Given the description of an element on the screen output the (x, y) to click on. 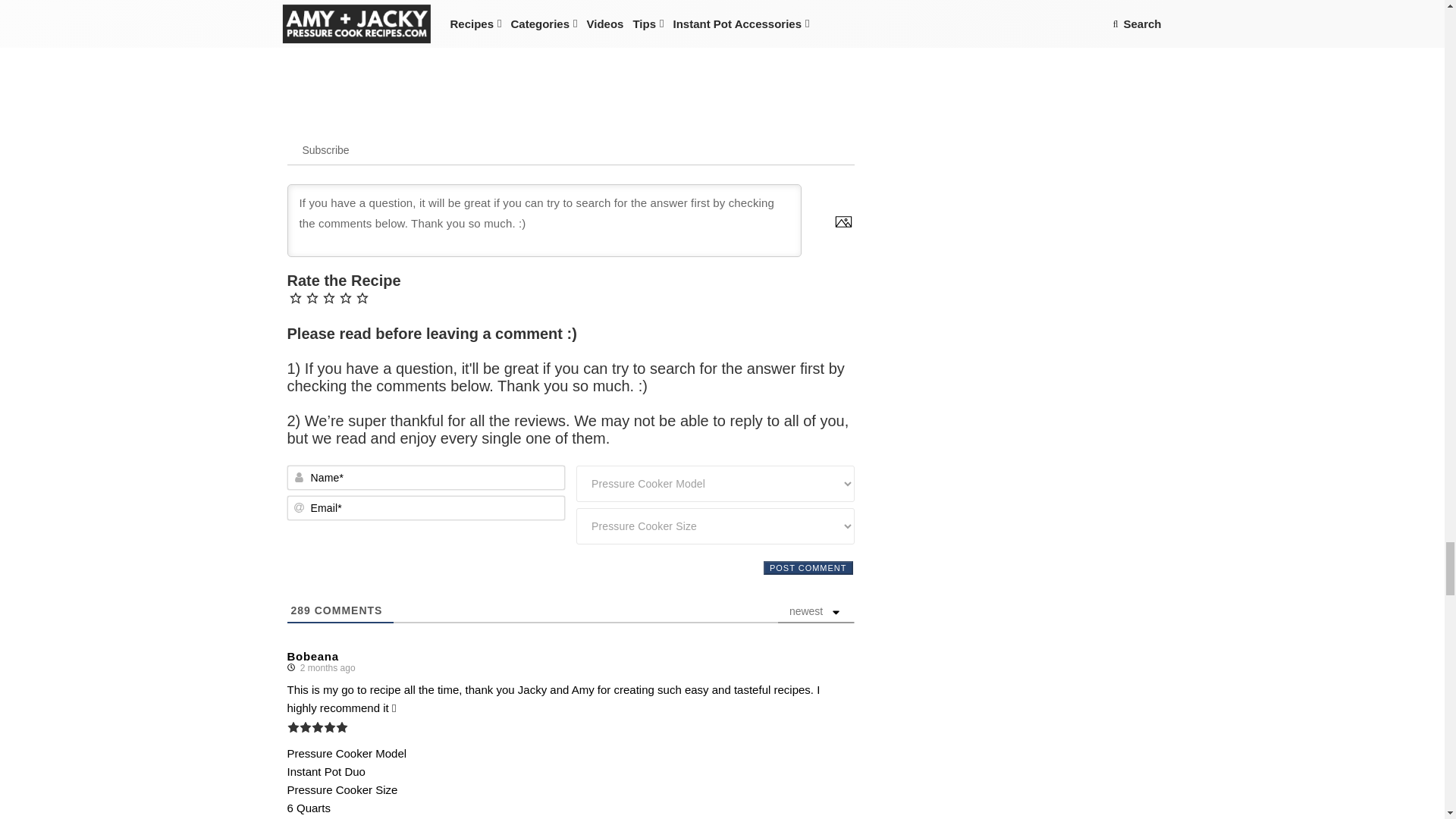
April 21, 2024 2:38 am (324, 667)
289 (301, 610)
Post Comment (807, 567)
